Given the description of an element on the screen output the (x, y) to click on. 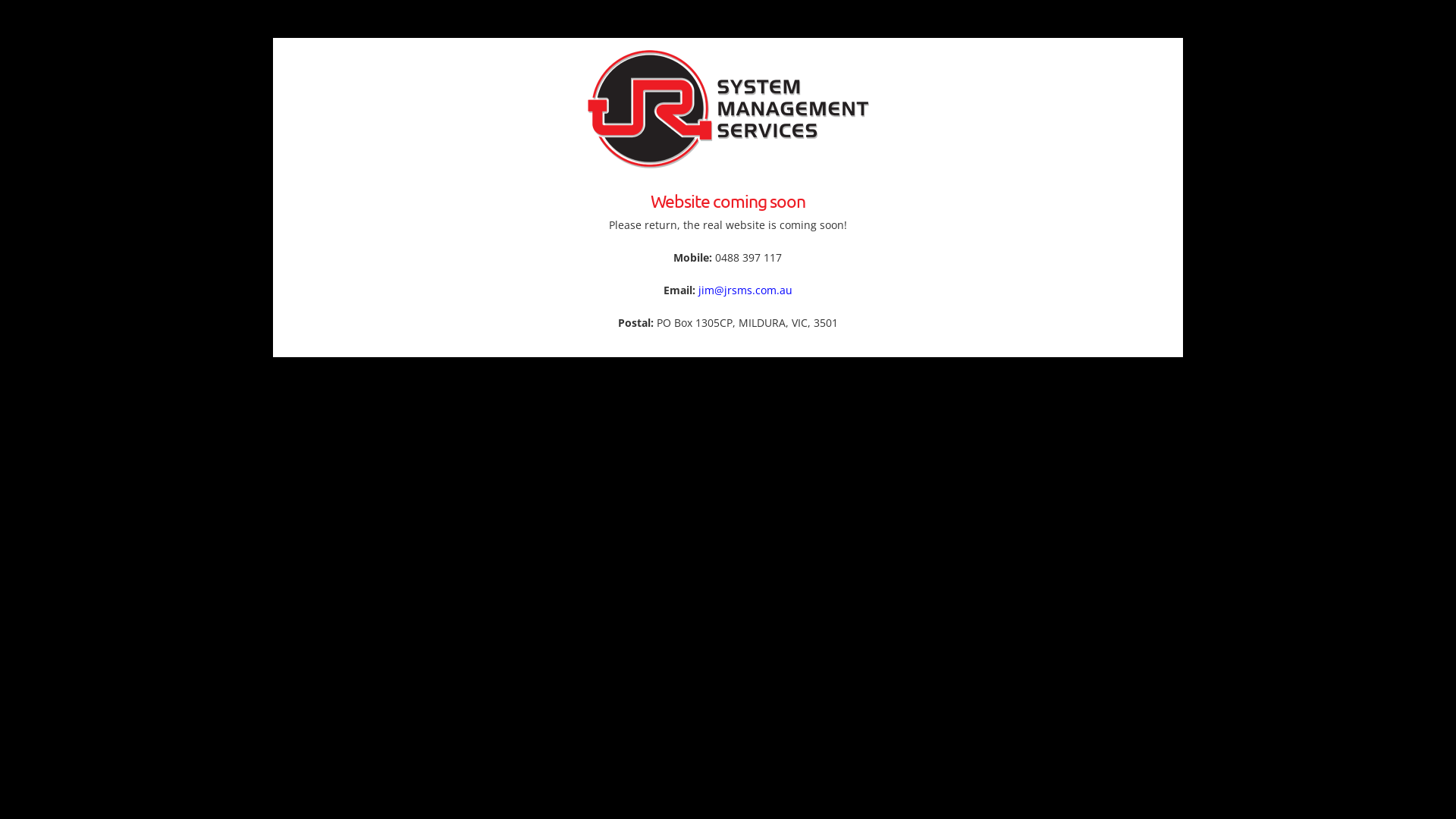
jim@jrsms.com.au Element type: text (745, 289)
JR System Management Services Element type: hover (727, 108)
